Given the description of an element on the screen output the (x, y) to click on. 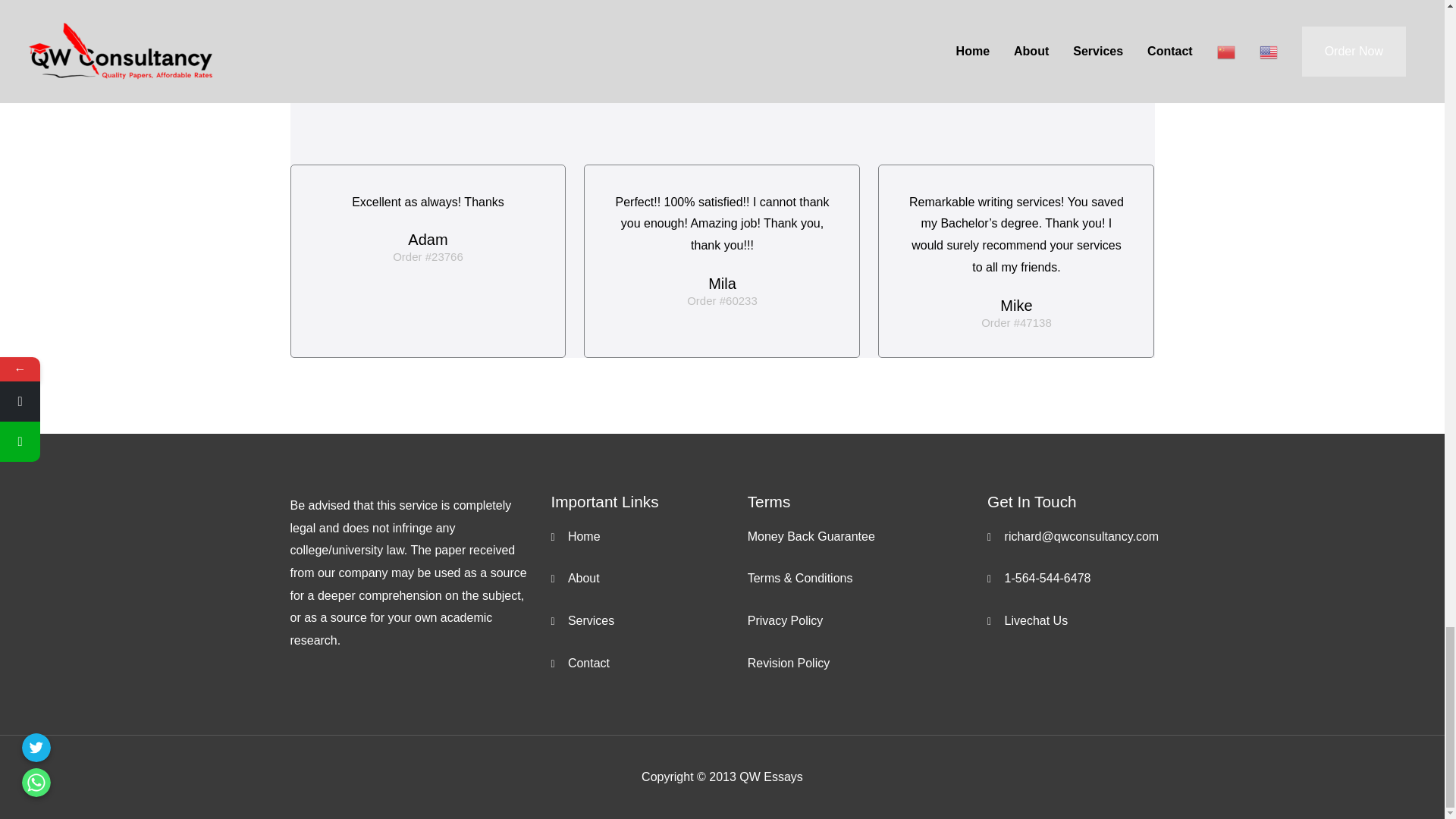
Home (648, 536)
Privacy Policy (867, 620)
Services (648, 620)
About (648, 578)
Contact (648, 662)
Revision Policy (867, 662)
Money Back Guarantee (867, 536)
